Given the description of an element on the screen output the (x, y) to click on. 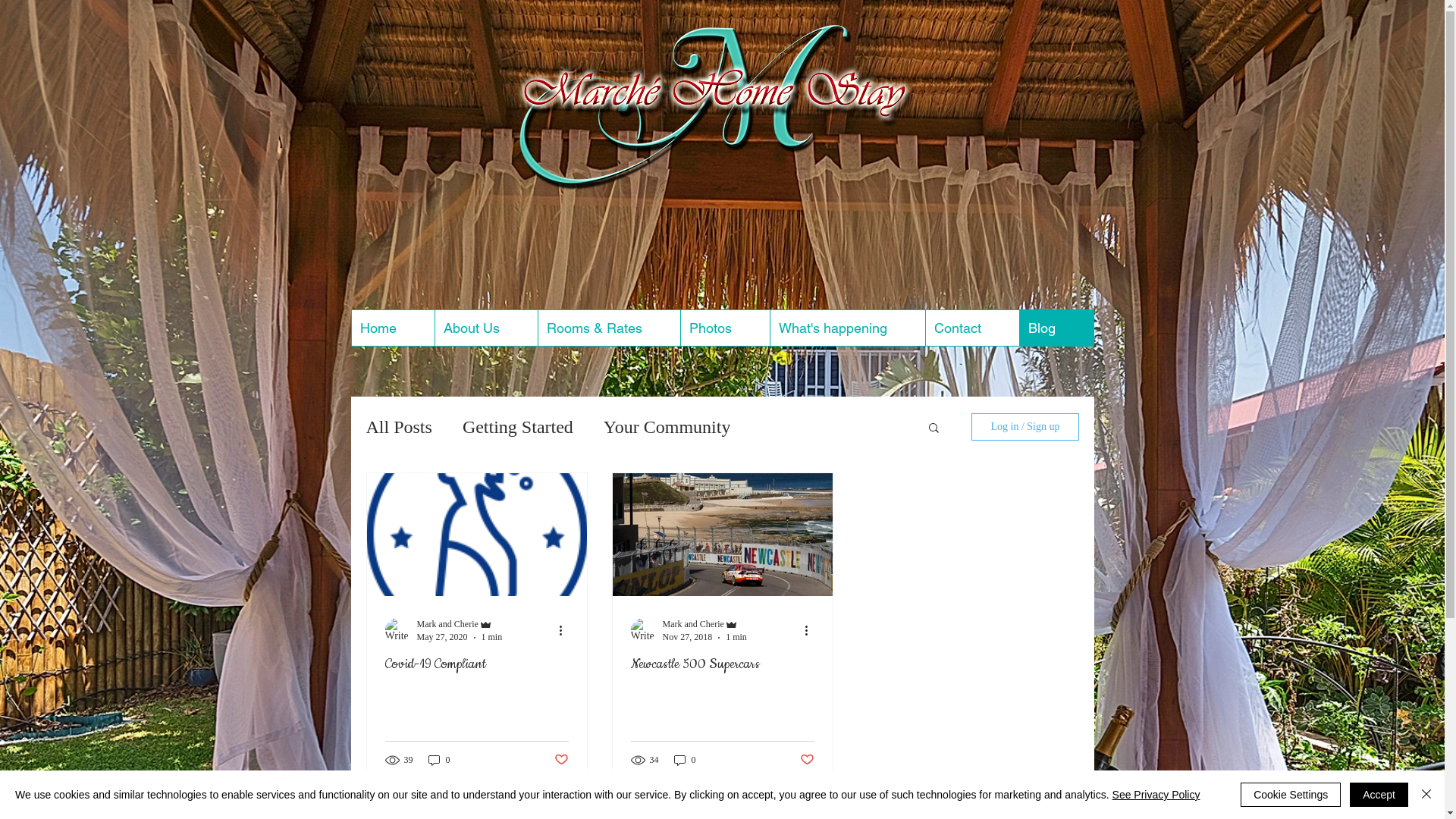
Newcastle 500 Supercars Element type: text (722, 664)
Log in / Sign up Element type: text (1024, 426)
Photos Element type: text (723, 327)
Getting Started Element type: text (517, 427)
Accept Element type: text (1378, 794)
0 Element type: text (683, 760)
About Us Element type: text (484, 327)
Post not marked as liked Element type: text (560, 760)
See Privacy Policy Element type: text (1156, 794)
All Posts Element type: text (398, 427)
Home Element type: text (392, 327)
Blog Element type: text (1056, 327)
Your Community Element type: text (667, 427)
Covid-19 Compliant Element type: text (476, 664)
What's happening Element type: text (846, 327)
Cookie Settings Element type: text (1290, 794)
Contact Element type: text (972, 327)
Rooms & Rates Element type: text (607, 327)
0 Element type: text (438, 760)
Post not marked as liked Element type: text (806, 760)
